Given the description of an element on the screen output the (x, y) to click on. 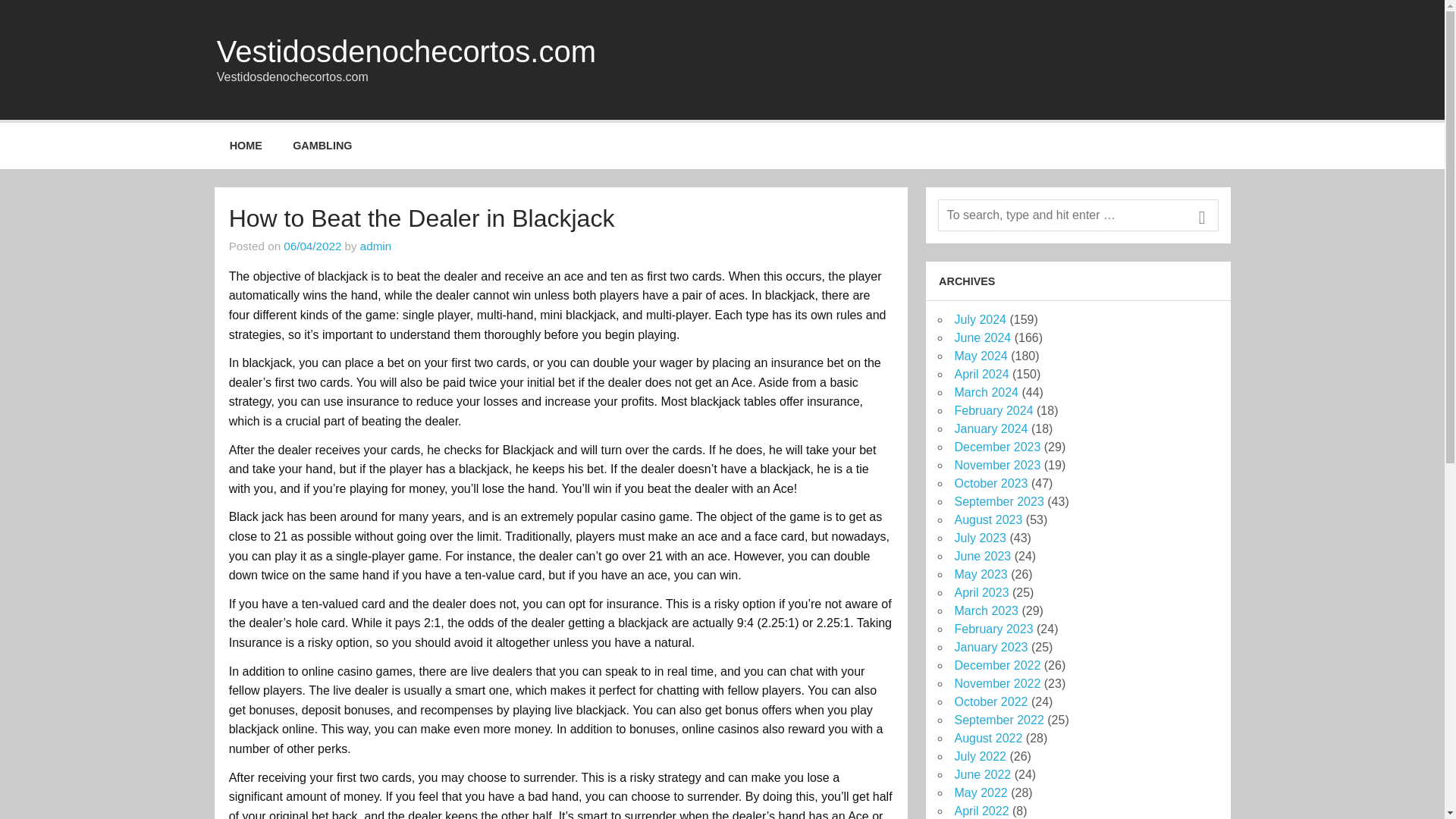
April 2022 (981, 810)
April 2023 (981, 592)
June 2024 (981, 337)
April 2024 (981, 373)
May 2022 (980, 792)
January 2024 (990, 428)
March 2023 (985, 610)
December 2022 (997, 665)
admin (375, 245)
September 2023 (998, 501)
February 2023 (992, 628)
August 2022 (987, 738)
July 2023 (979, 537)
7:14 AM (311, 245)
October 2022 (990, 701)
